Given the description of an element on the screen output the (x, y) to click on. 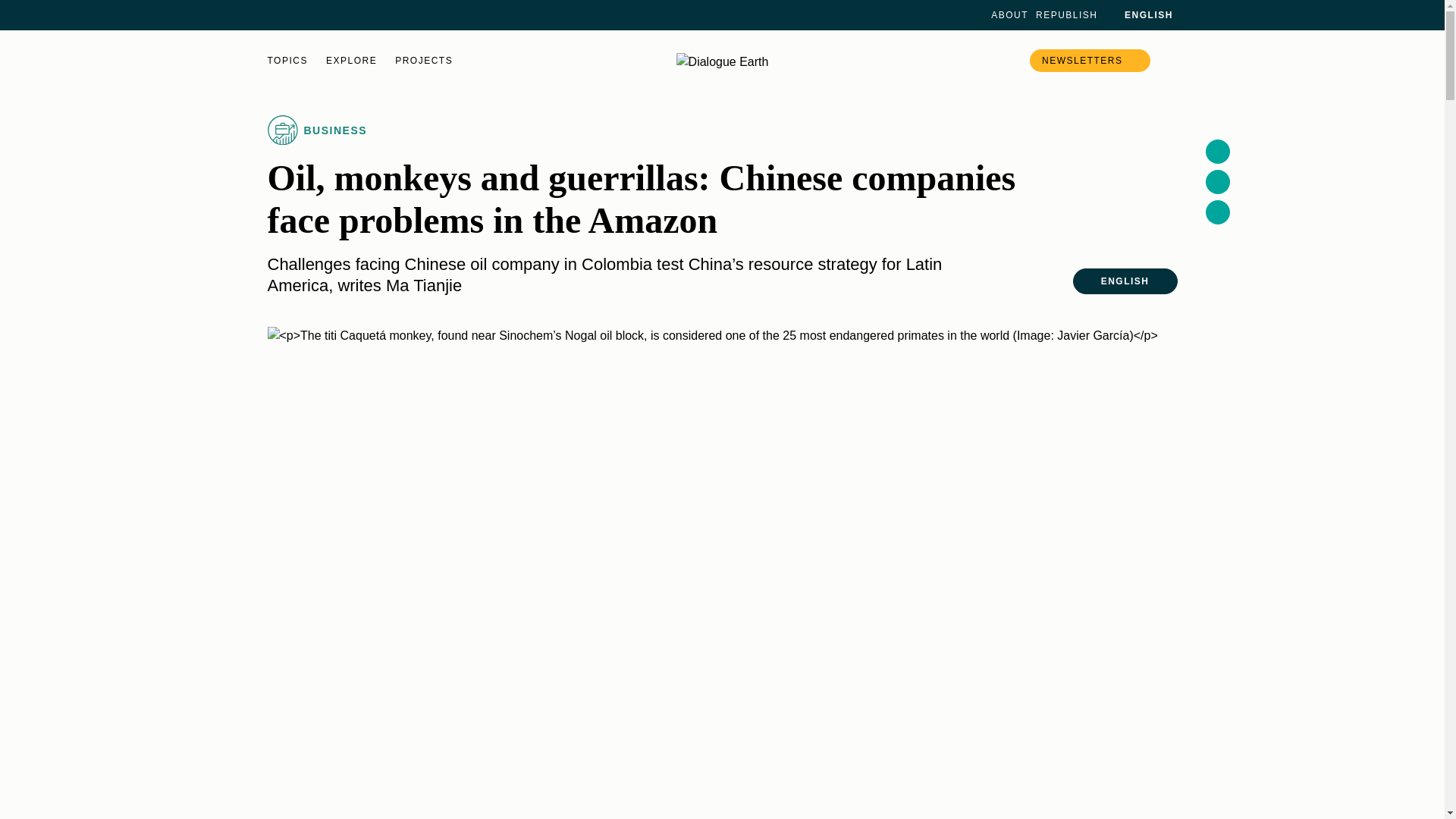
English (1139, 15)
REPUBLISH (1066, 14)
EXPLORE (351, 60)
ABOUT (1009, 14)
ENGLISH (1139, 15)
TOPICS (286, 60)
